Given the description of an element on the screen output the (x, y) to click on. 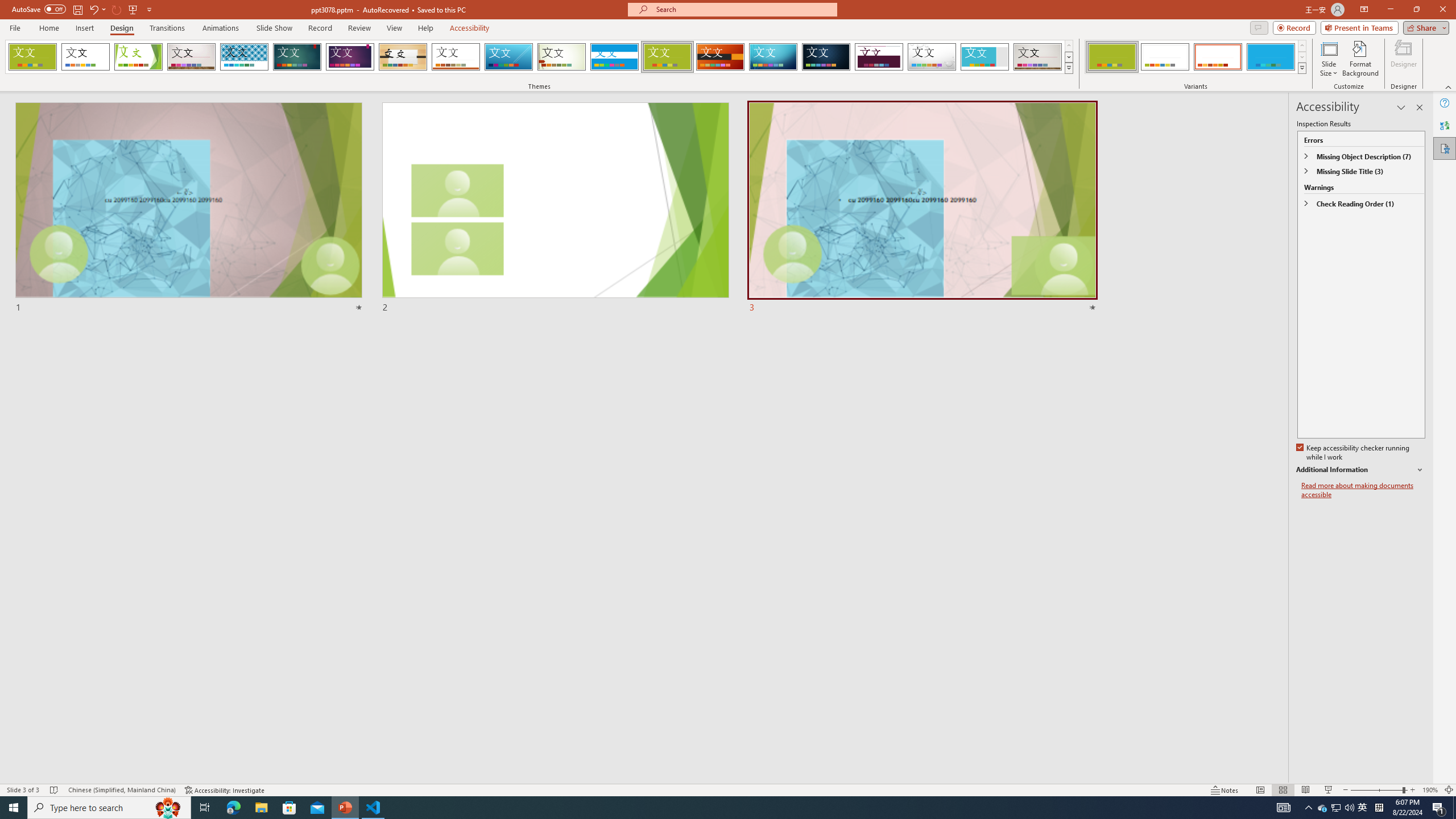
Organic (403, 56)
Circuit (772, 56)
Office Theme (85, 56)
Keep accessibility checker running while I work (1353, 452)
Facet (138, 56)
Slide Size (1328, 58)
